Given the description of an element on the screen output the (x, y) to click on. 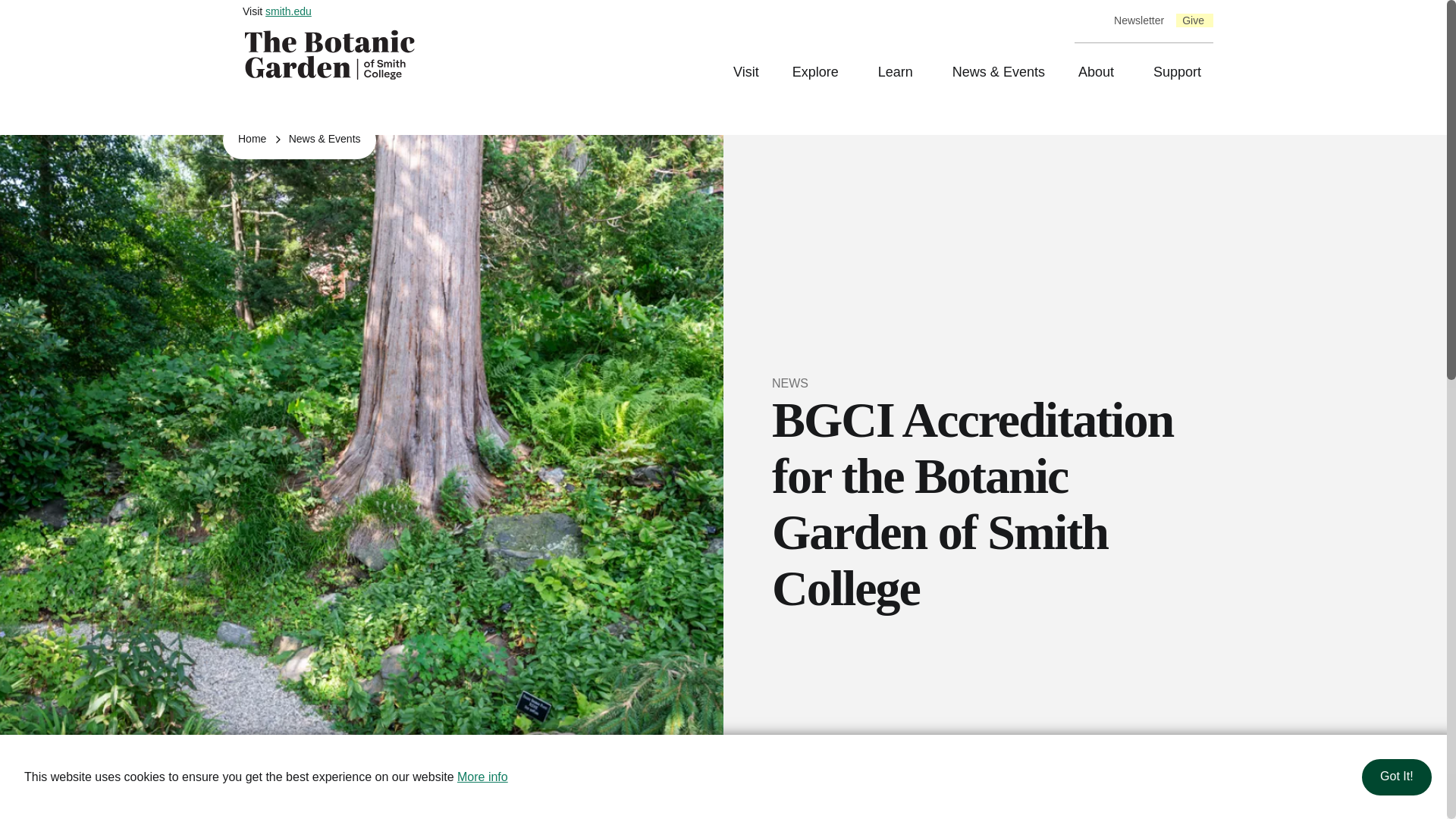
More info (482, 776)
Newsletter (1139, 21)
smith.edu (287, 10)
About (1100, 72)
Search (13, 13)
Search Toggle (1089, 20)
Visit (747, 72)
Smith College logo (332, 54)
Support (1175, 72)
Learn (900, 72)
Got It! (1396, 776)
Explore (820, 72)
Give (1192, 21)
